Given the description of an element on the screen output the (x, y) to click on. 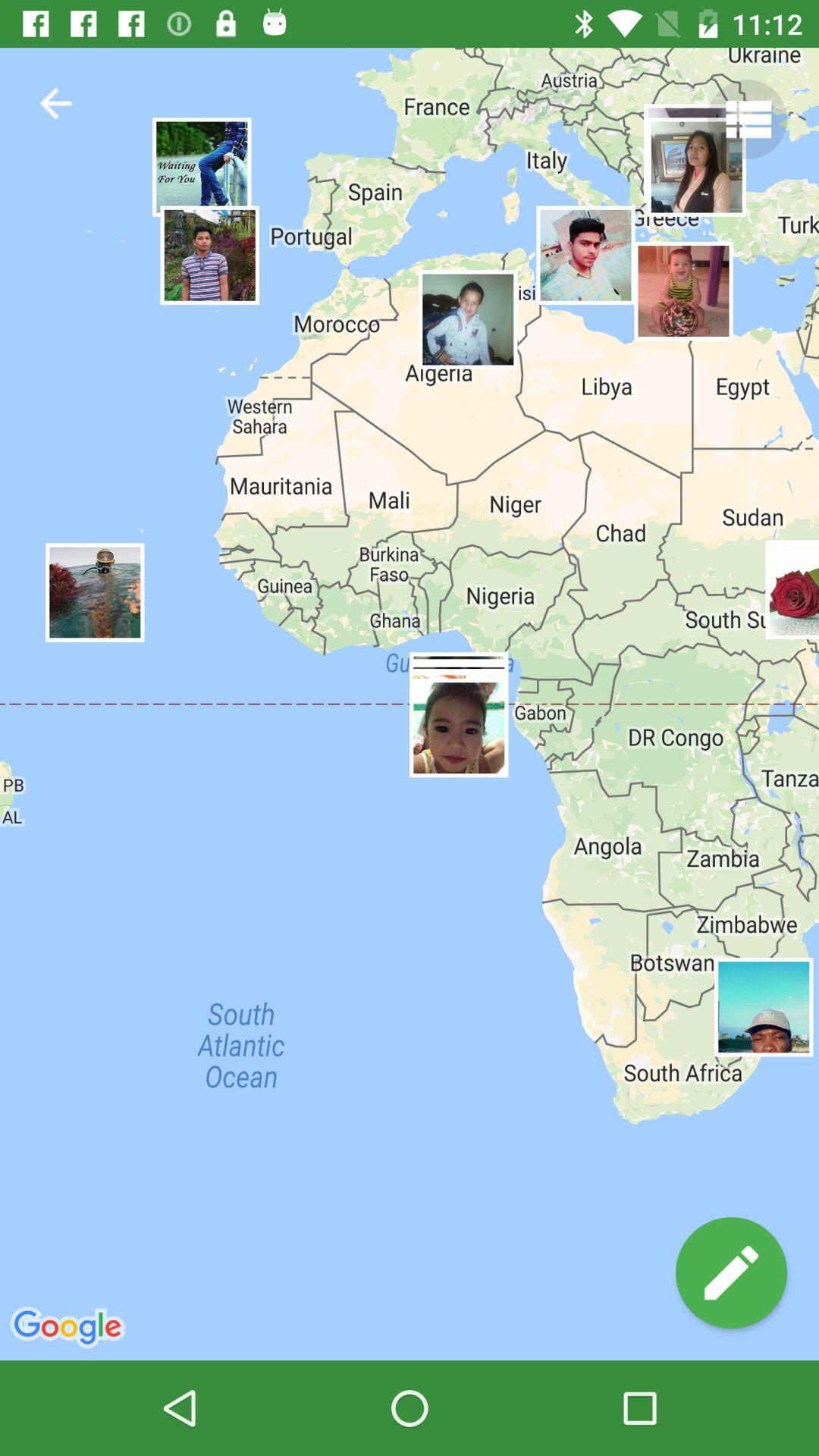
go to previous (55, 103)
